Given the description of an element on the screen output the (x, y) to click on. 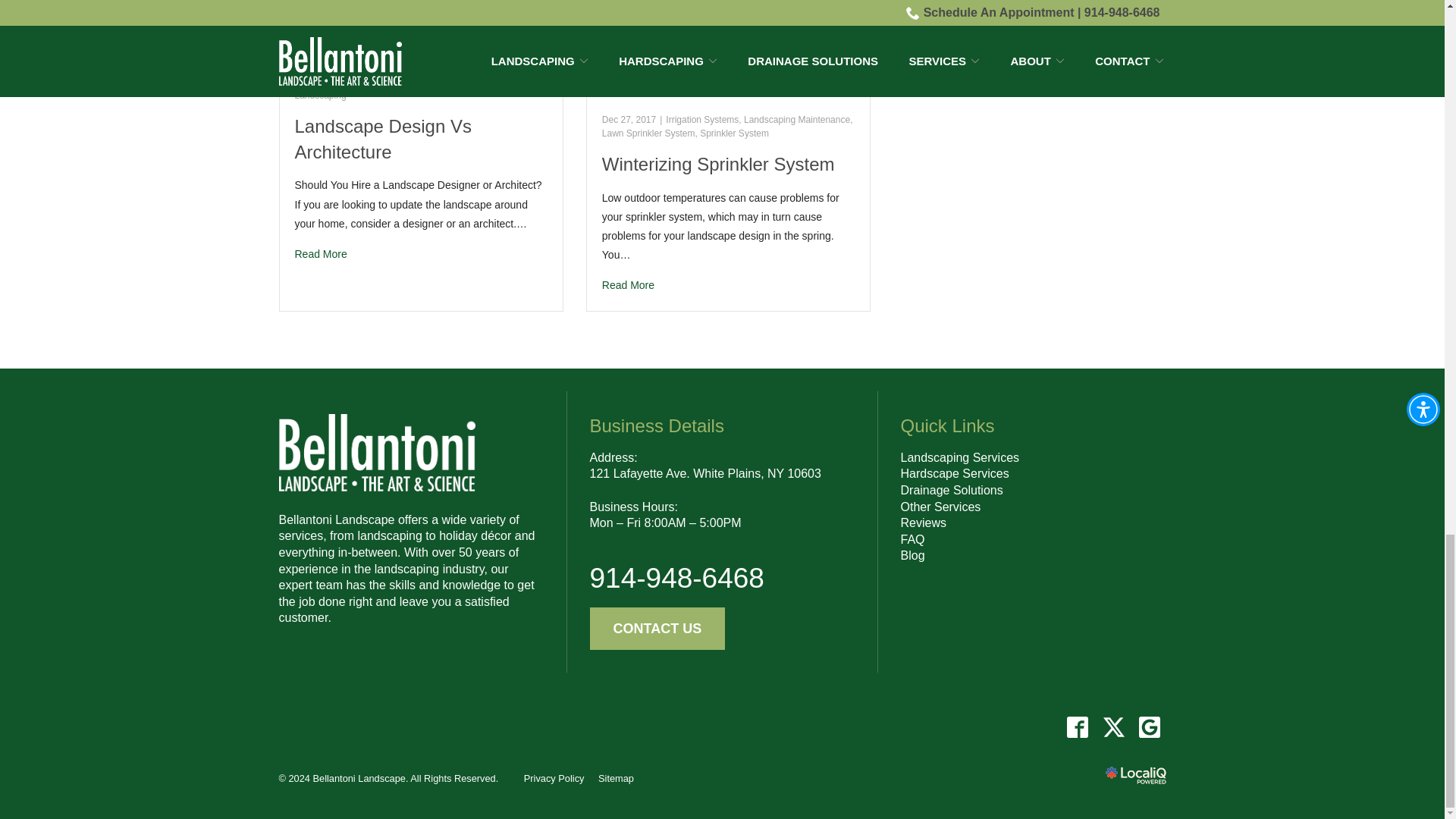
Landscape Design Vs Architecture (420, 253)
Winterizing Sprinkler System (728, 285)
facebook (1077, 726)
google (1149, 726)
twitter (1113, 726)
